Given the description of an element on the screen output the (x, y) to click on. 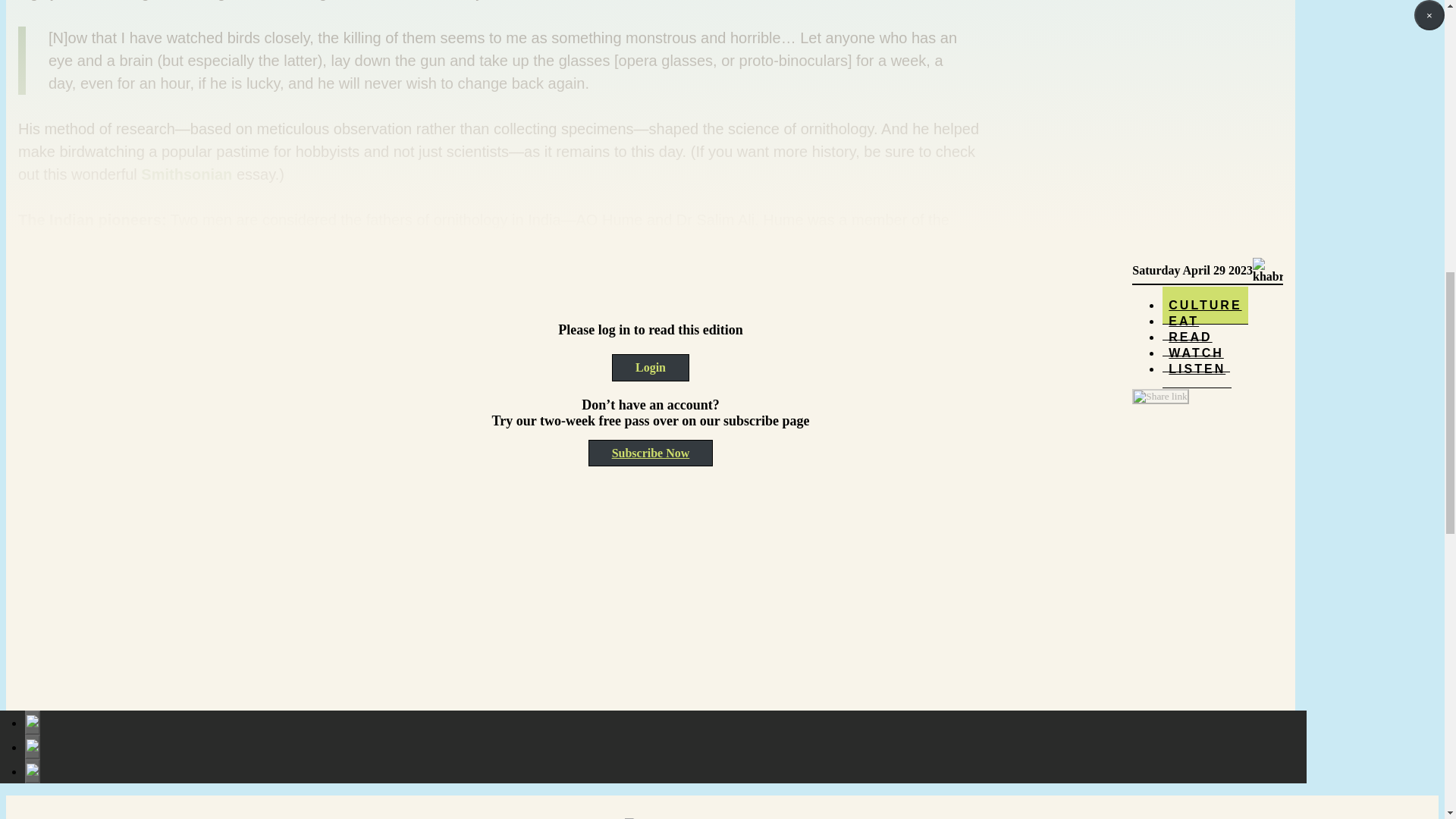
READ (1189, 4)
Share link (1160, 49)
Handbook of the Birds of India and Pakistan (605, 424)
Birdman of India (755, 401)
FYI (116, 265)
Smithsonian (186, 174)
LISTEN (1196, 22)
1000 species (362, 514)
WATCH (1194, 12)
Great Backyard Bird Count (408, 536)
zoom lens (893, 605)
